Given the description of an element on the screen output the (x, y) to click on. 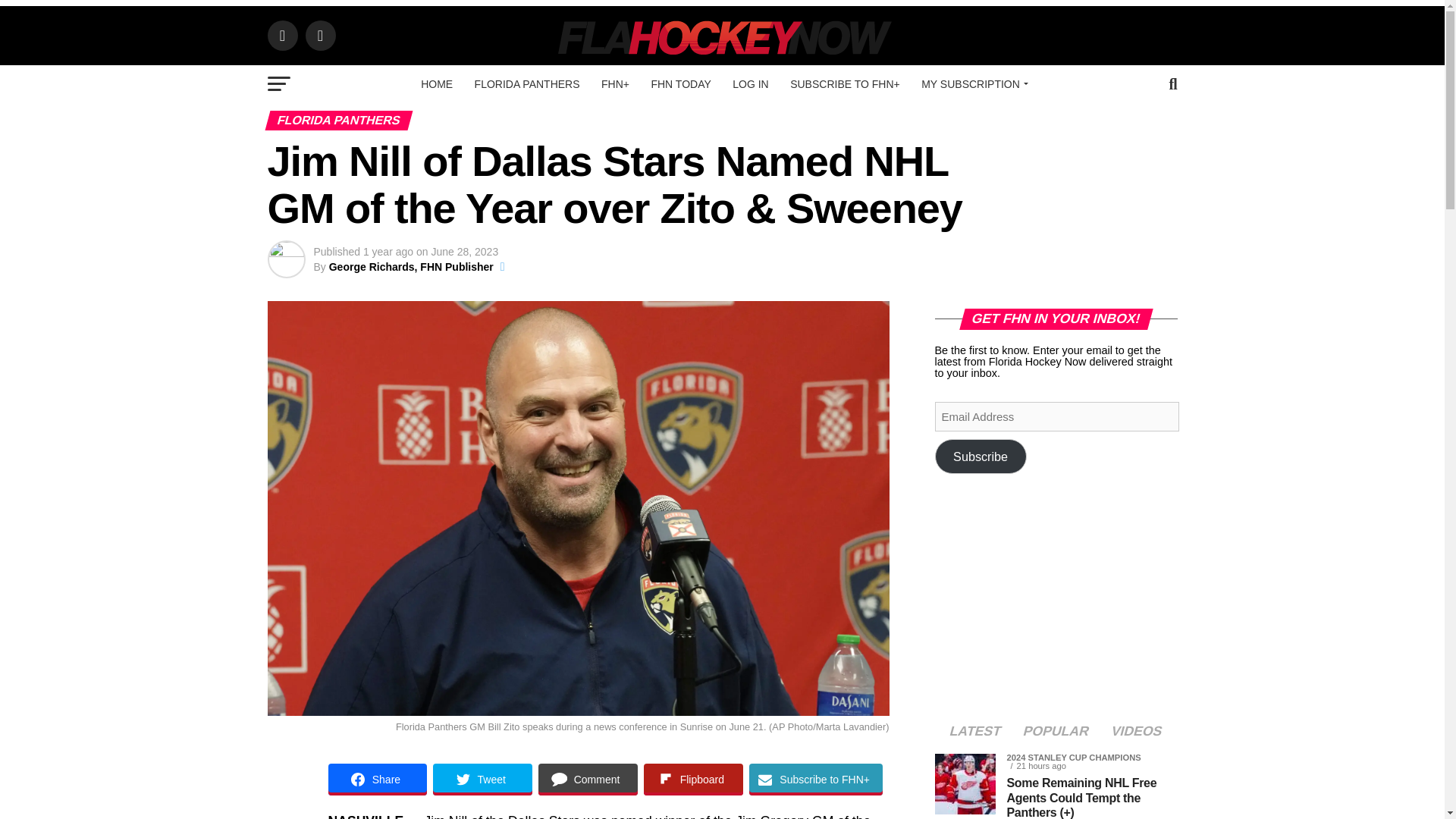
Share on Flipboard (692, 779)
Share on Tweet (482, 779)
Share on Share (376, 779)
HOME (436, 84)
LOG IN (750, 84)
FHN TODAY (680, 84)
Posts by George Richards, FHN Publisher (411, 266)
FLORIDA PANTHERS (527, 84)
Share on Comment (587, 779)
